Given the description of an element on the screen output the (x, y) to click on. 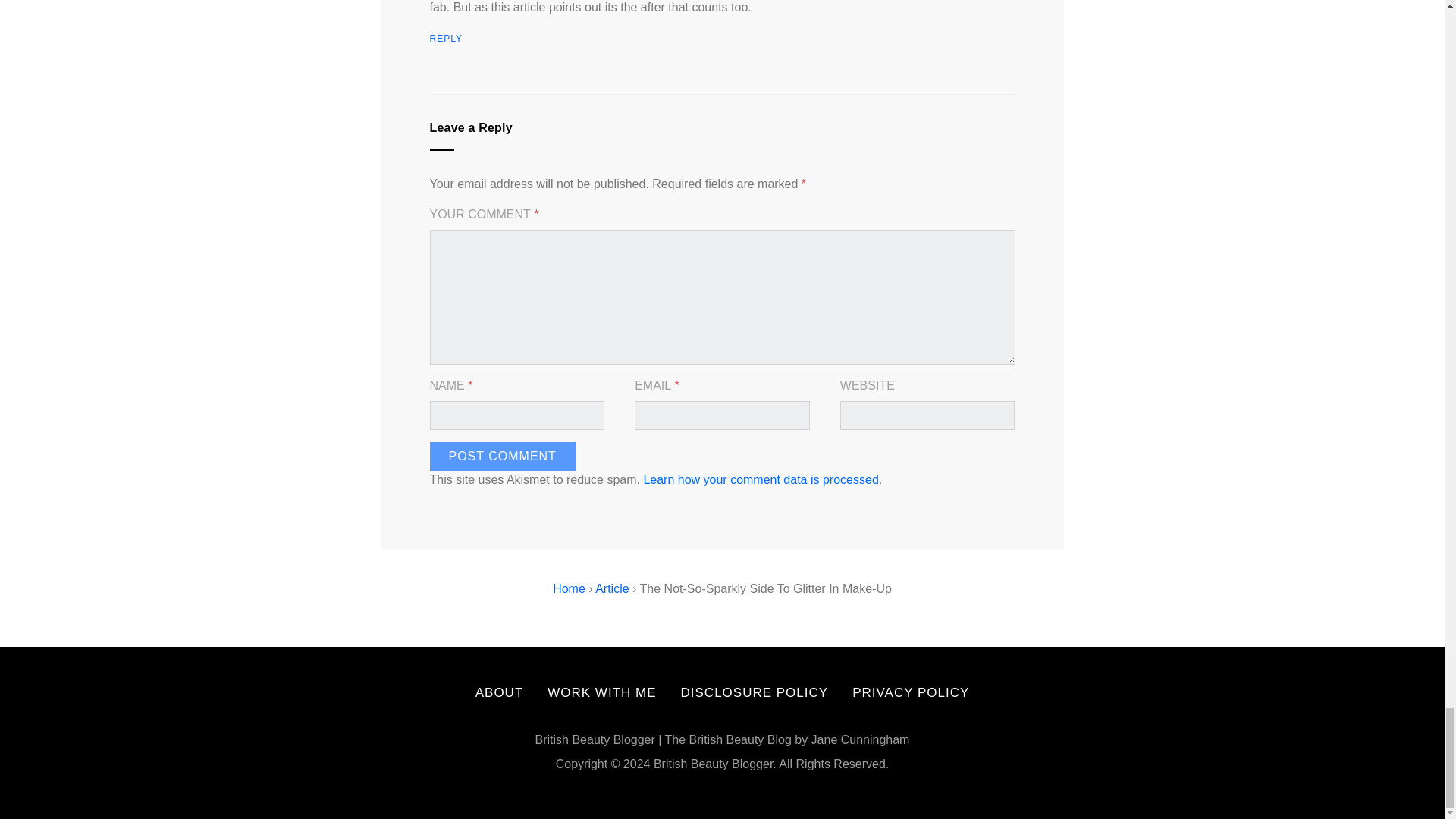
Post Comment (502, 455)
